Given the description of an element on the screen output the (x, y) to click on. 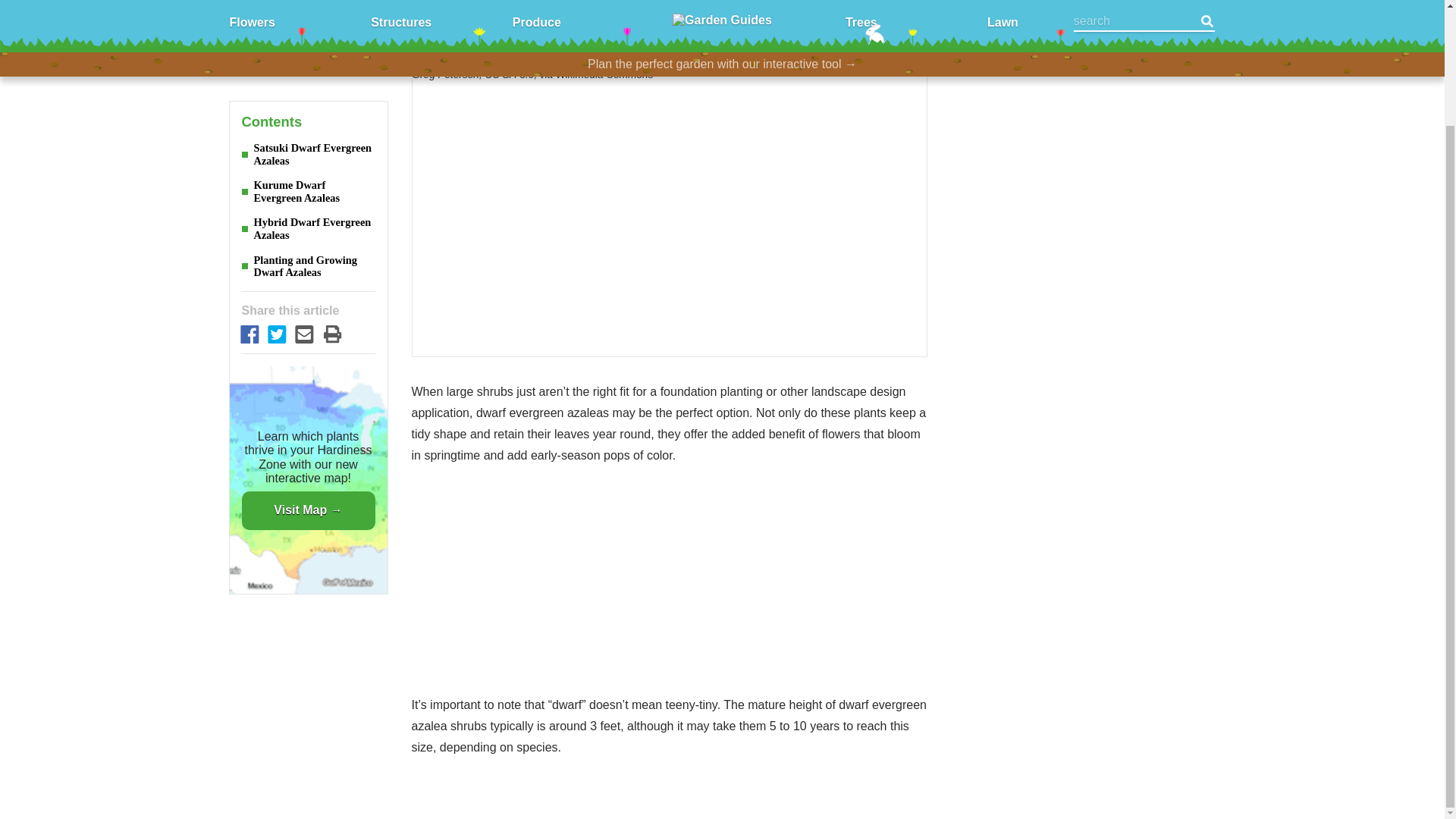
Planting and Growing Dwarf Azaleas (307, 157)
Hybrid Dwarf Evergreen Azaleas (307, 119)
Kurume Dwarf Evergreen Azaleas (307, 82)
Satsuki Dwarf Evergreen Azaleas (307, 45)
